Given the description of an element on the screen output the (x, y) to click on. 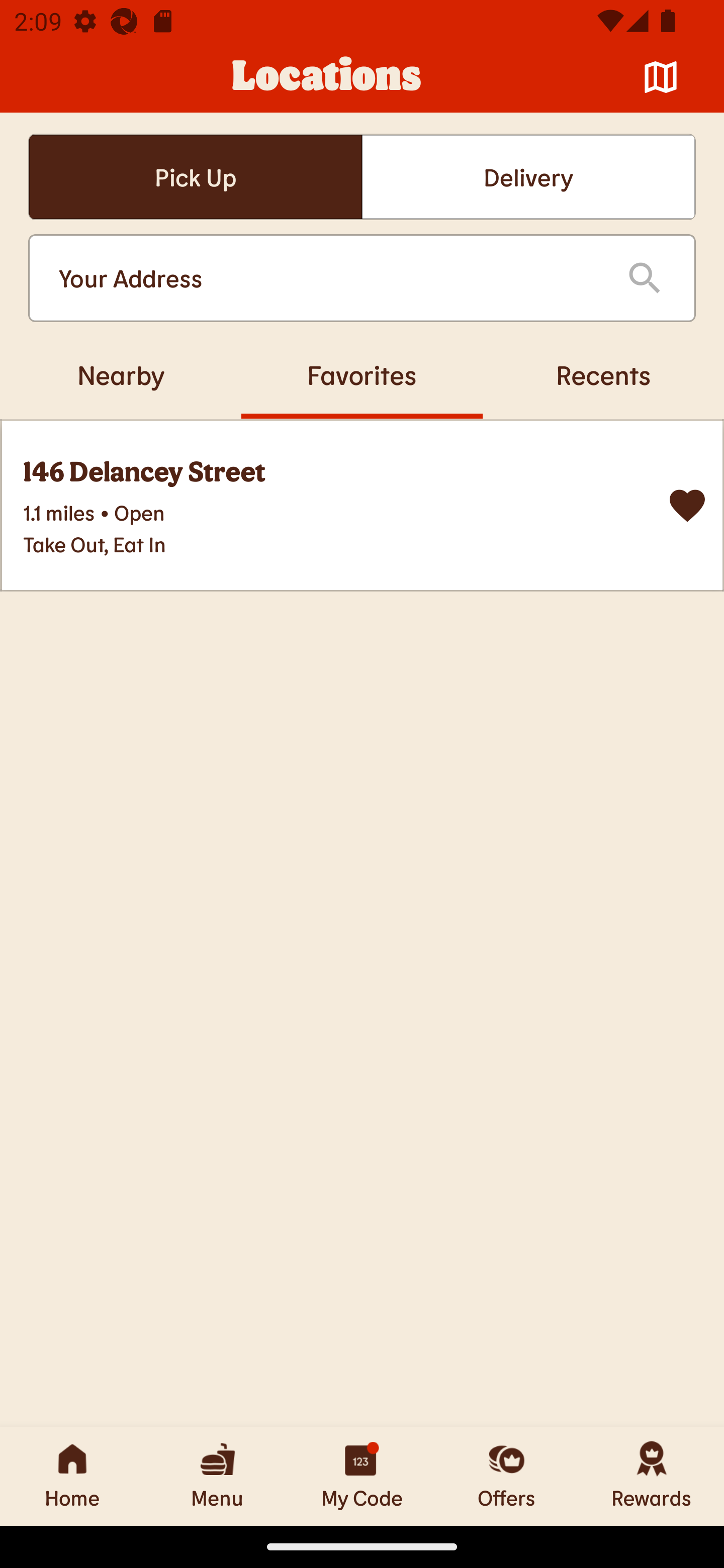
Map 󰦂 (660, 77)
Locations (326, 77)
Pick UpSelected Pick UpSelected Pick Up (195, 176)
Delivery Delivery Delivery (528, 176)
Your Address (327, 277)
Nearby (120, 374)
Favorites (361, 374)
Recents (603, 374)
Remove from Favorites?  (687, 505)
Home (72, 1475)
Menu (216, 1475)
My Code (361, 1475)
Offers (506, 1475)
Rewards (651, 1475)
